Given the description of an element on the screen output the (x, y) to click on. 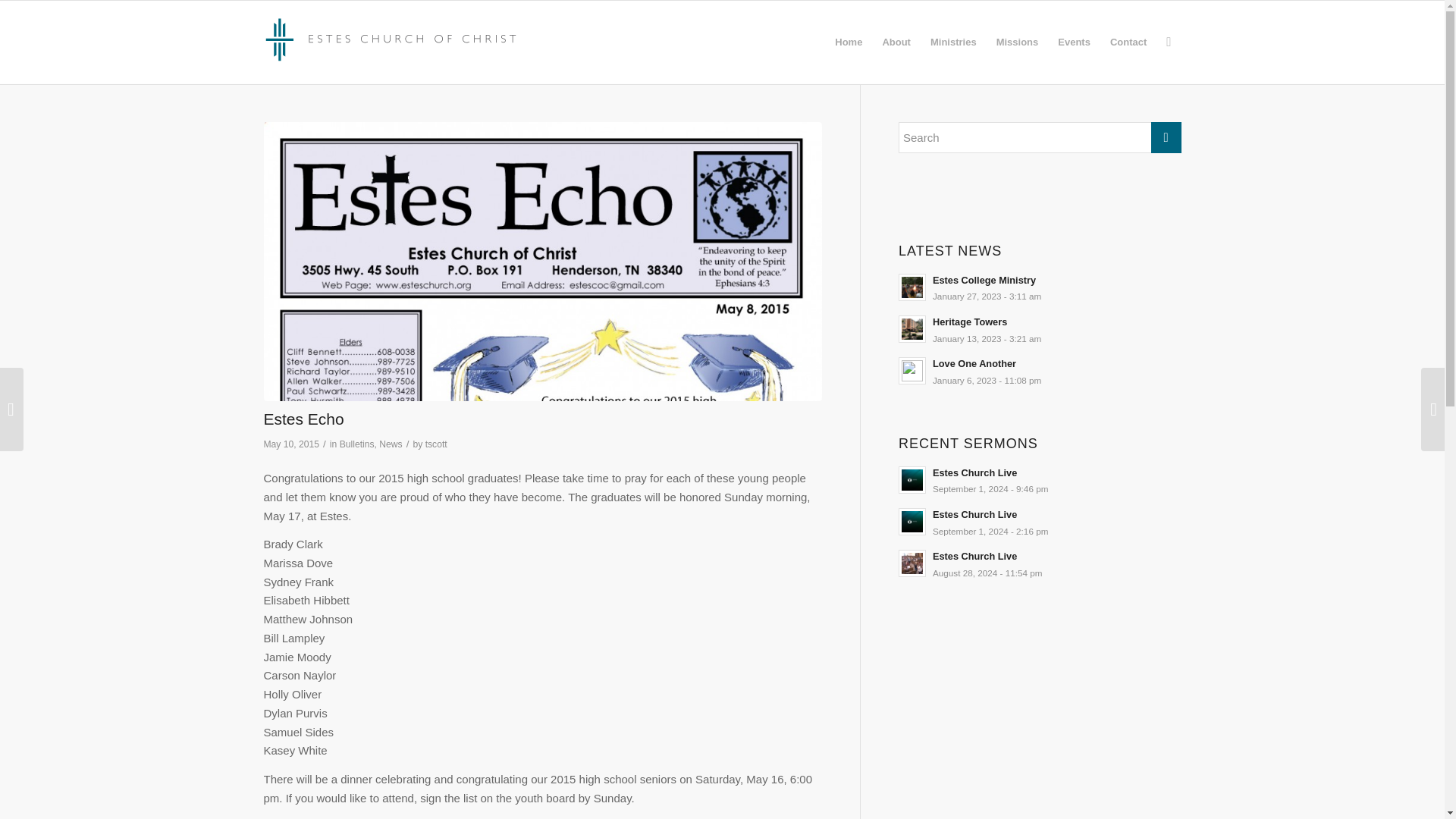
Bulletins (356, 443)
tscott (435, 443)
Posts by tscott (435, 443)
Asset-1logo-web (392, 37)
News (389, 443)
